Given the description of an element on the screen output the (x, y) to click on. 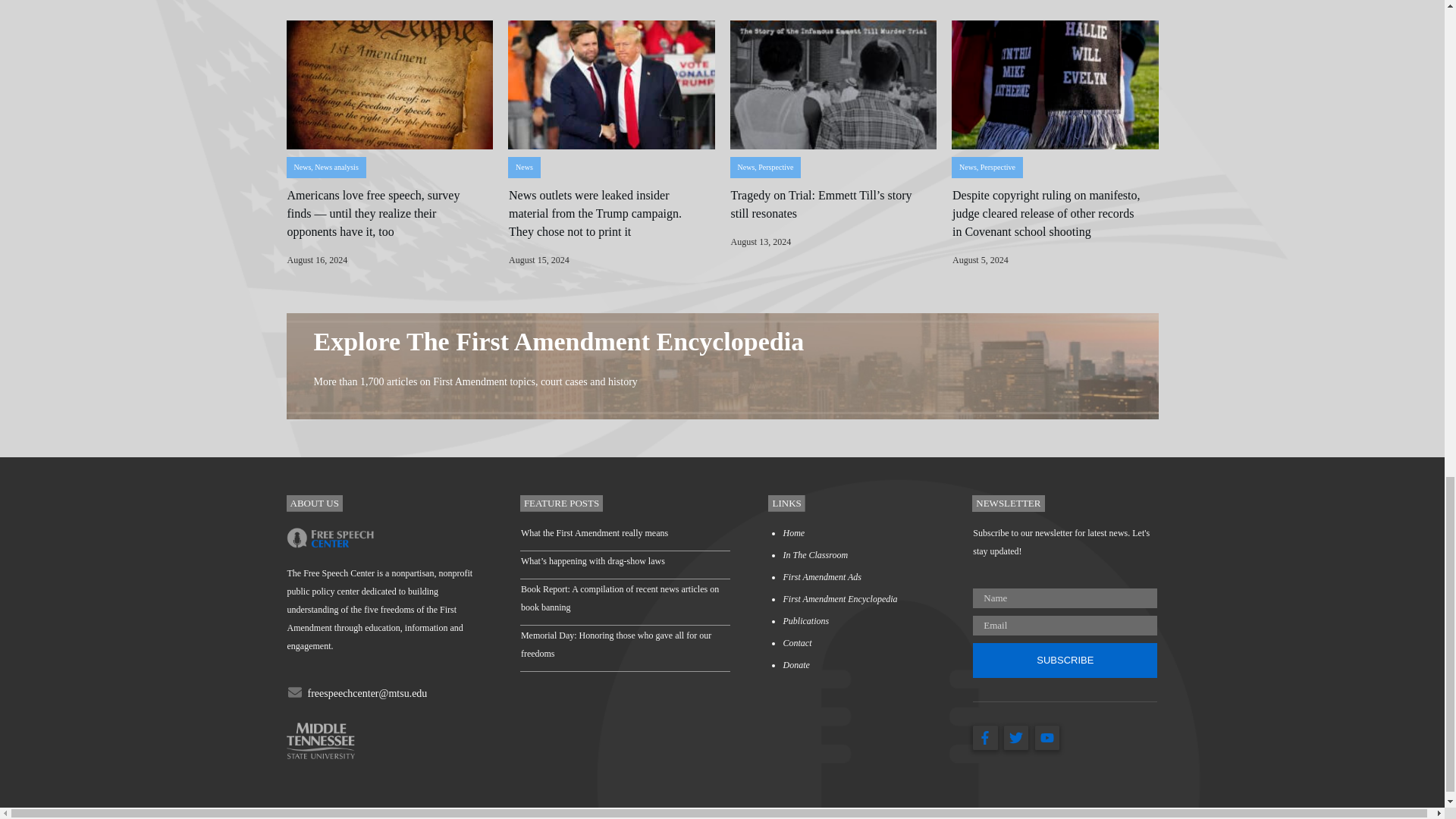
Home (794, 532)
News (967, 166)
Perspective (775, 166)
What the First Amendment really means (594, 532)
News (302, 166)
News (523, 166)
News (745, 166)
Perspective (996, 166)
